Given the description of an element on the screen output the (x, y) to click on. 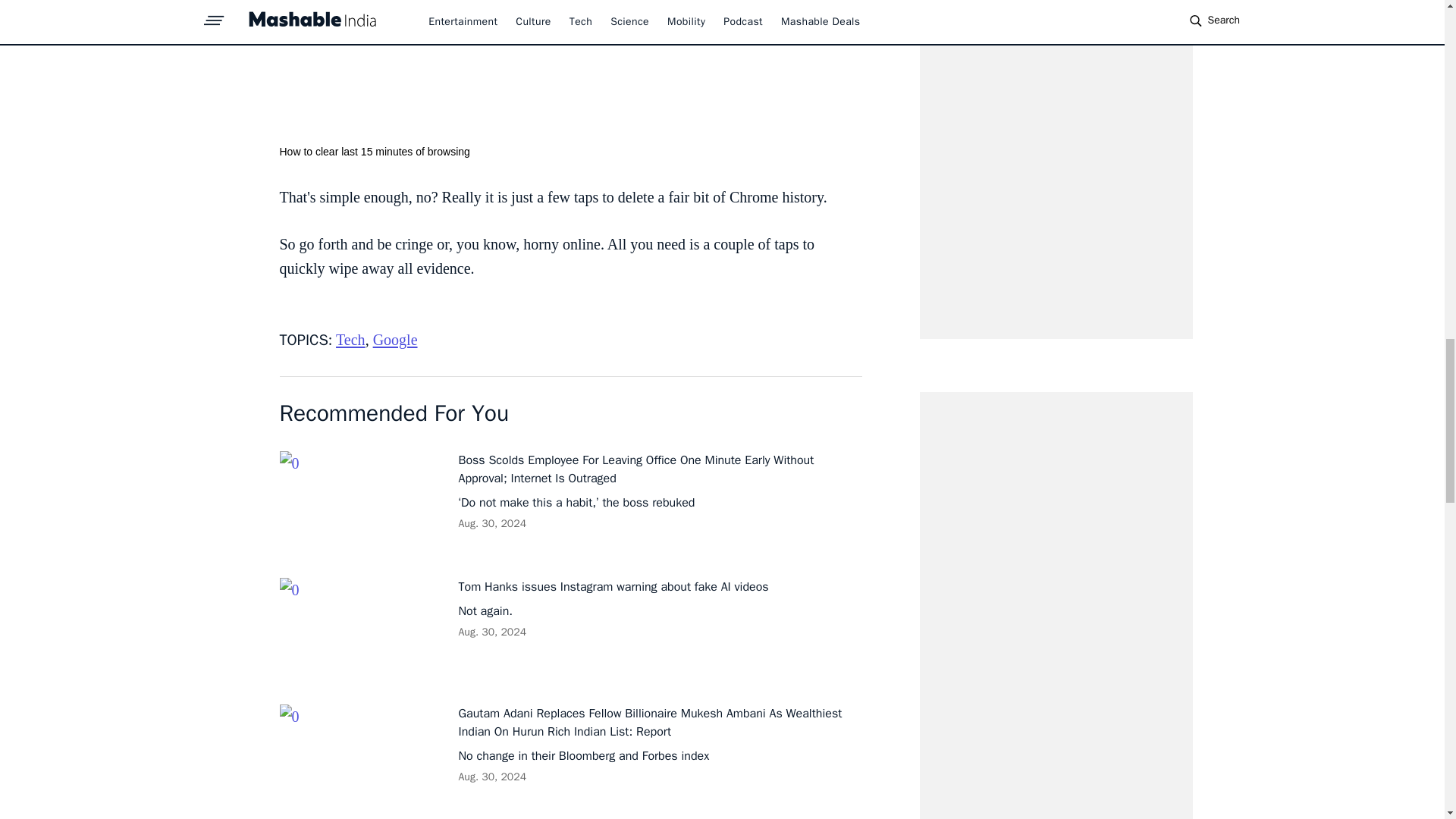
Tech (350, 339)
Google (394, 339)
